Given the description of an element on the screen output the (x, y) to click on. 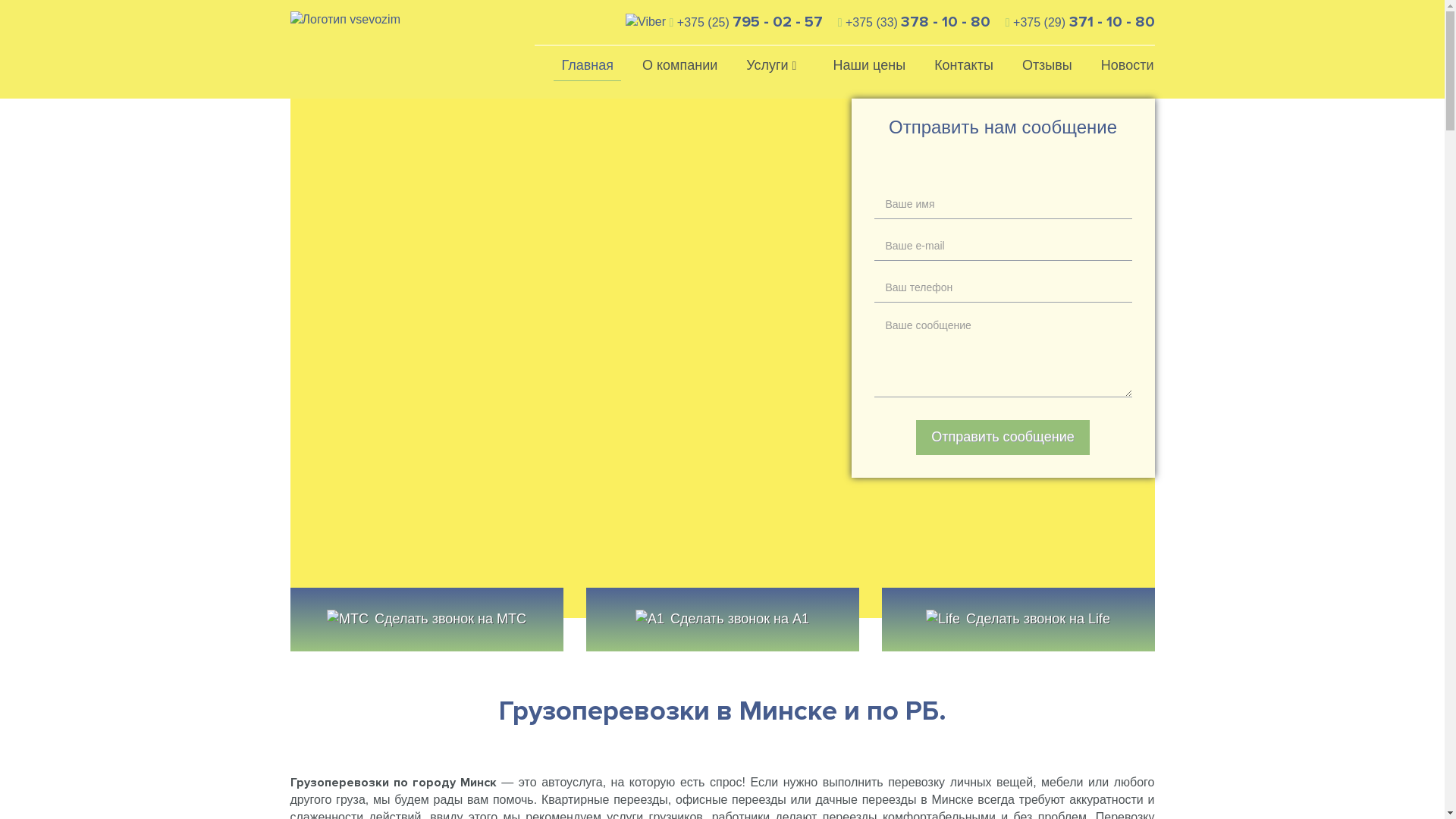
+375 (29) 371 - 10 - 80 Element type: text (1079, 22)
+375 (25) 795 - 02 - 57 Element type: text (723, 22)
+375 (33) 378 - 10 - 80 Element type: text (914, 22)
